Given the description of an element on the screen output the (x, y) to click on. 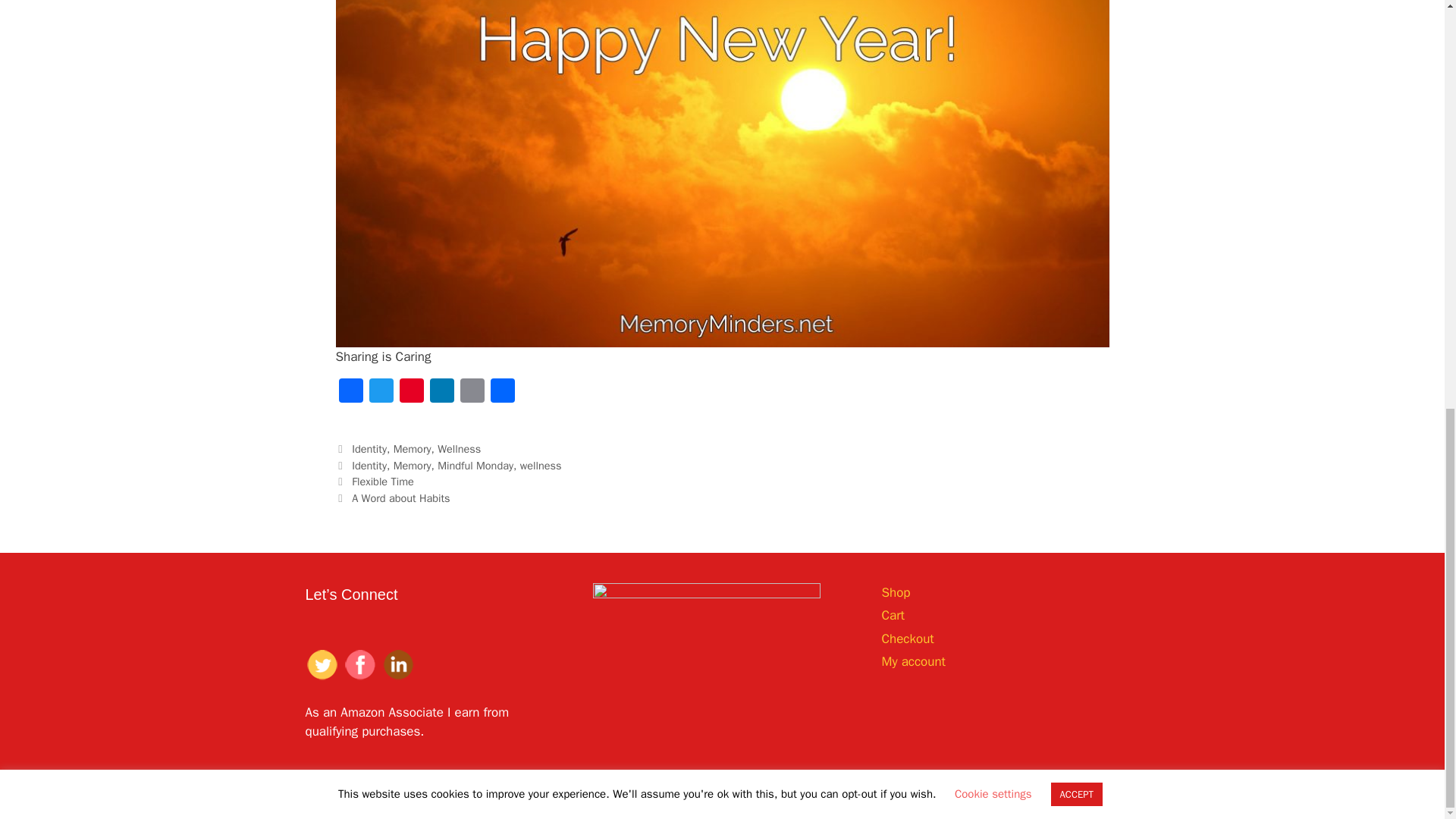
Flexible Time (382, 481)
Email (471, 392)
Scroll back to top (1406, 724)
Cart (892, 615)
LinkedIn (441, 392)
Disclaimer (1113, 795)
Pinterest (411, 392)
LinkedIn (441, 392)
Memory (411, 448)
wellness (540, 465)
